Given the description of an element on the screen output the (x, y) to click on. 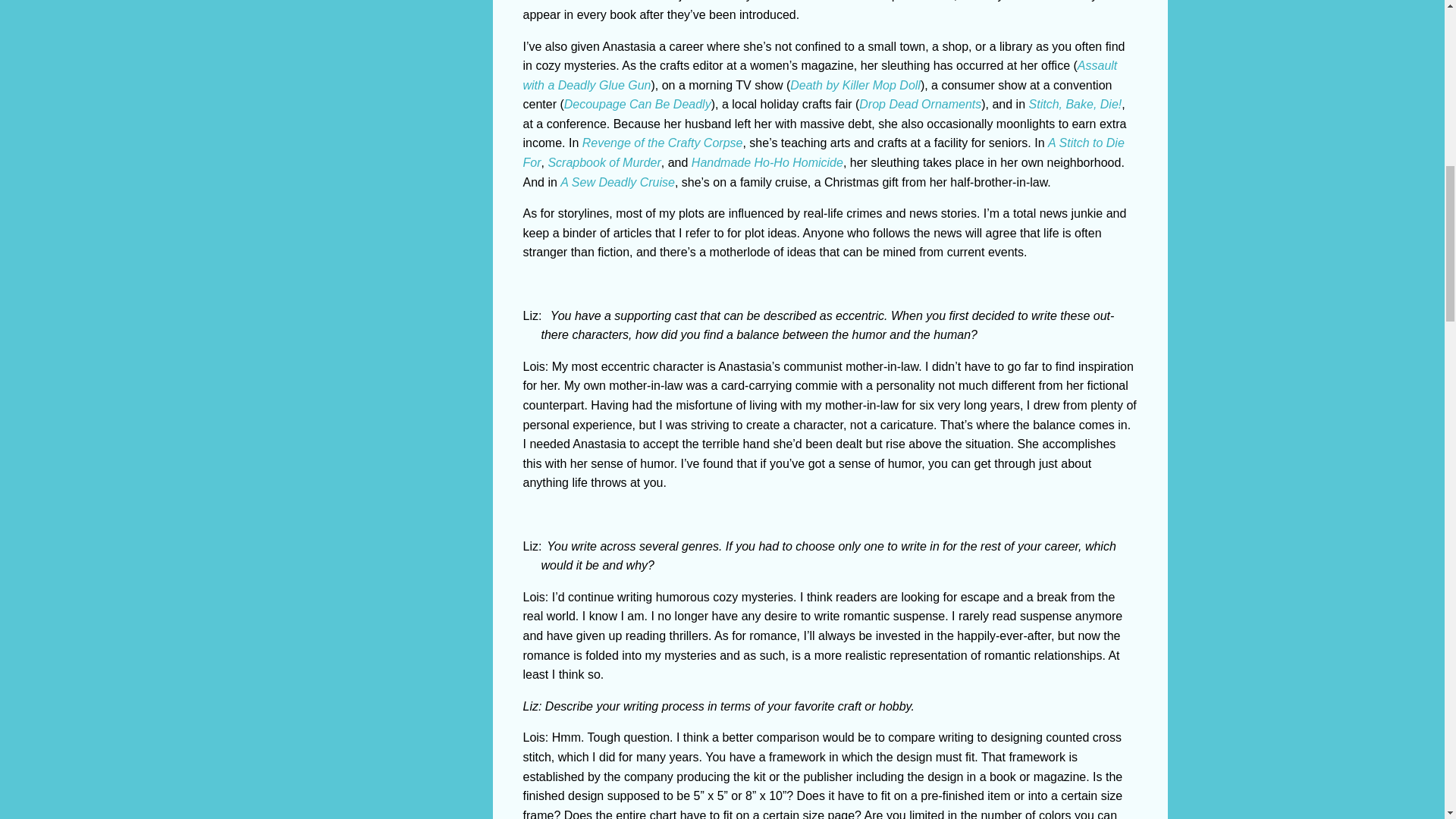
Decoupage Can Be Deadly (637, 103)
Stitch, Bake, Die! (1075, 103)
A Sew Deadly Cruise (617, 182)
Drop Dead Ornaments (920, 103)
A Stitch to Die For (823, 152)
Death by Killer Mop Doll (855, 84)
Handmade Ho-Ho Homicide (767, 162)
Scrapbook of Murder (604, 162)
Revenge of the Crafty Corpse (662, 142)
Assault with a Deadly Glue Gun (820, 74)
